Given the description of an element on the screen output the (x, y) to click on. 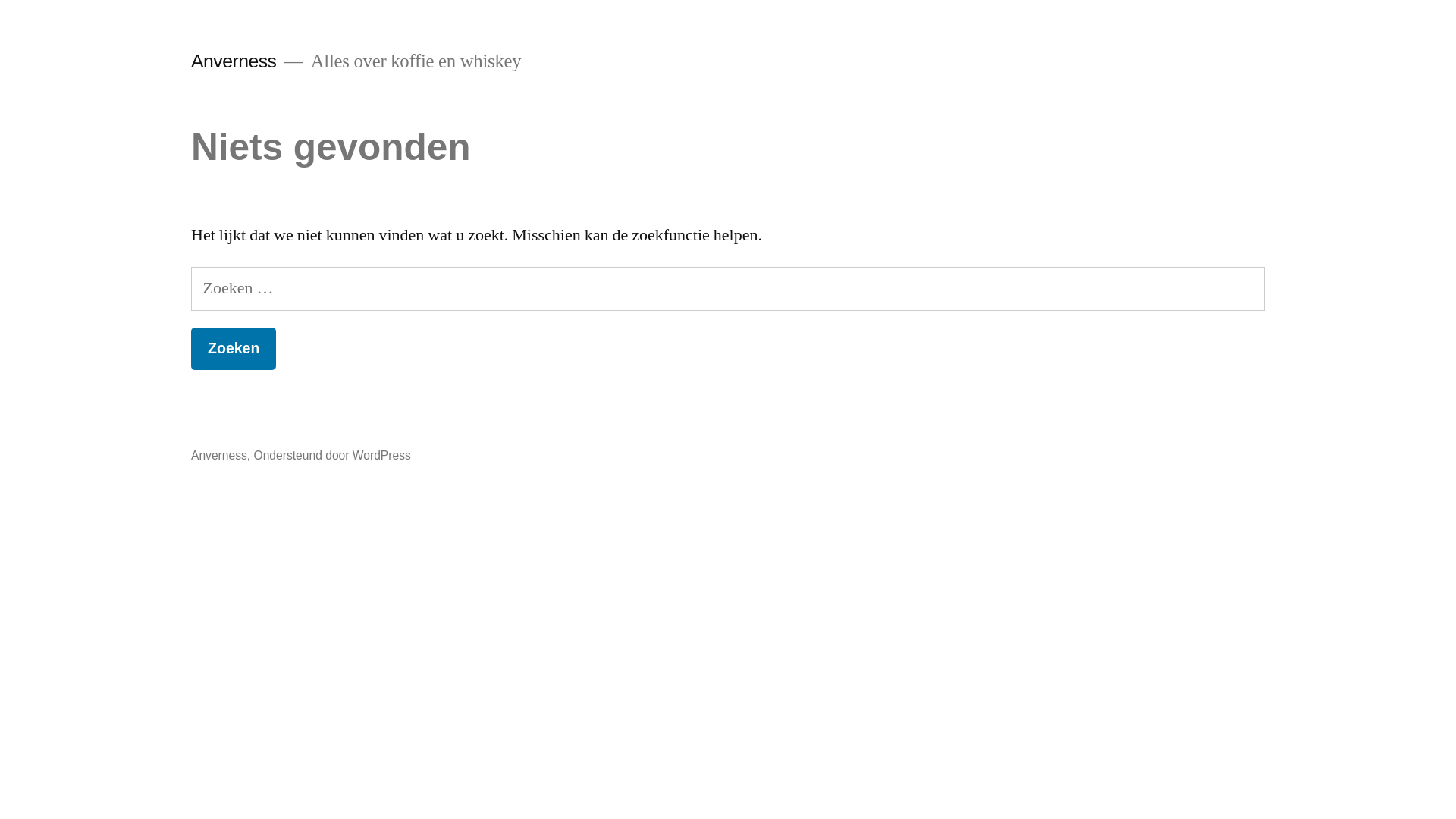
Ondersteund door WordPress Element type: text (332, 454)
Zoeken Element type: text (233, 348)
Anverness Element type: text (219, 454)
Anverness Element type: text (233, 60)
